Given the description of an element on the screen output the (x, y) to click on. 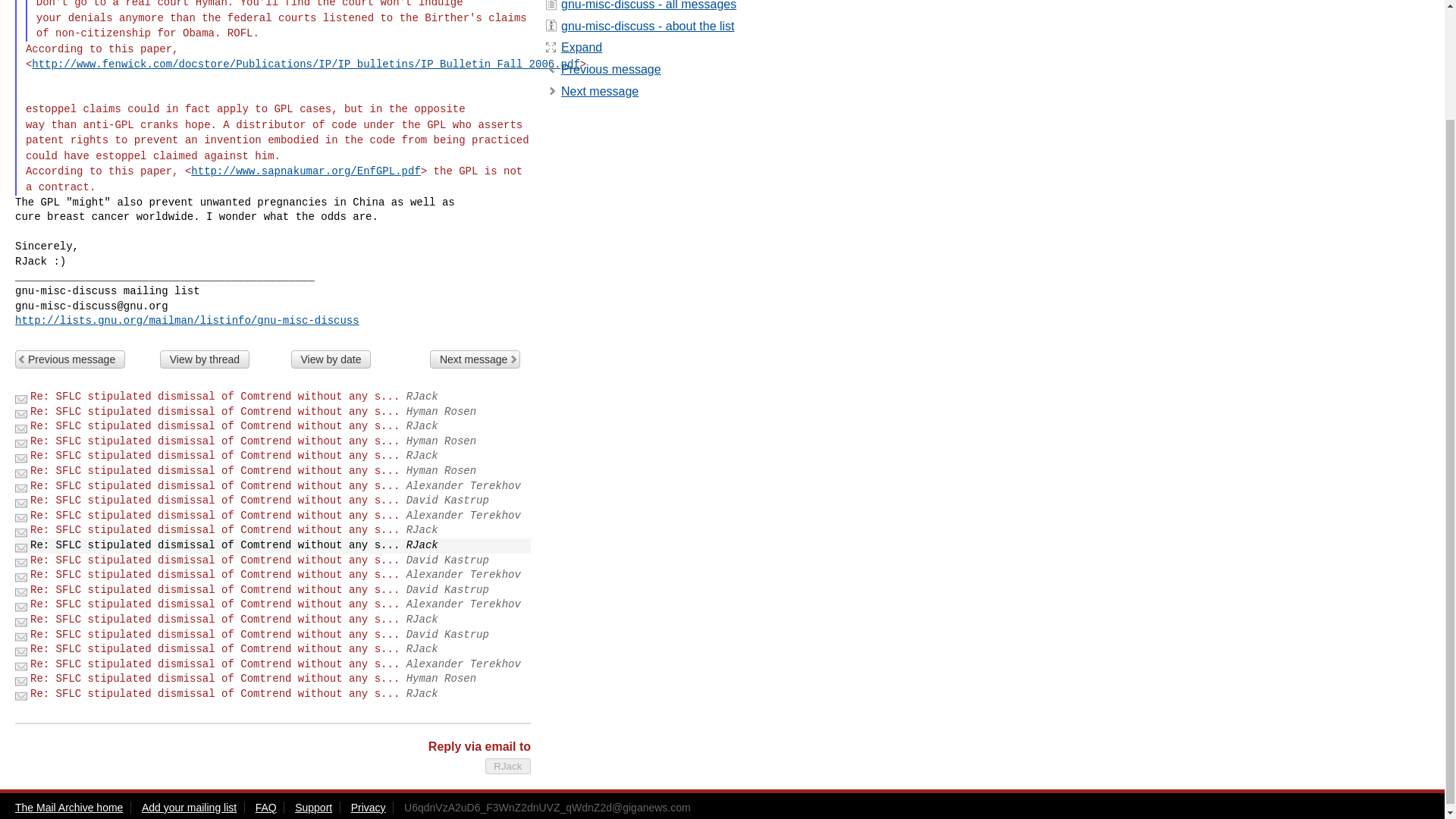
Re: SFLC stipulated dismissal of Comtrend without any s... (214, 589)
Re: SFLC stipulated dismissal of Comtrend without any s... (214, 440)
 RJack  (507, 765)
Re: SFLC stipulated dismissal of Comtrend without any s... (214, 648)
p (610, 69)
Re: SFLC stipulated dismissal of Comtrend without any s... (214, 515)
Re: SFLC stipulated dismissal of Comtrend without any s... (214, 500)
View by thread (204, 359)
Re: SFLC stipulated dismissal of Comtrend without any s... (214, 560)
Re: SFLC stipulated dismissal of Comtrend without any s... (214, 574)
